Given the description of an element on the screen output the (x, y) to click on. 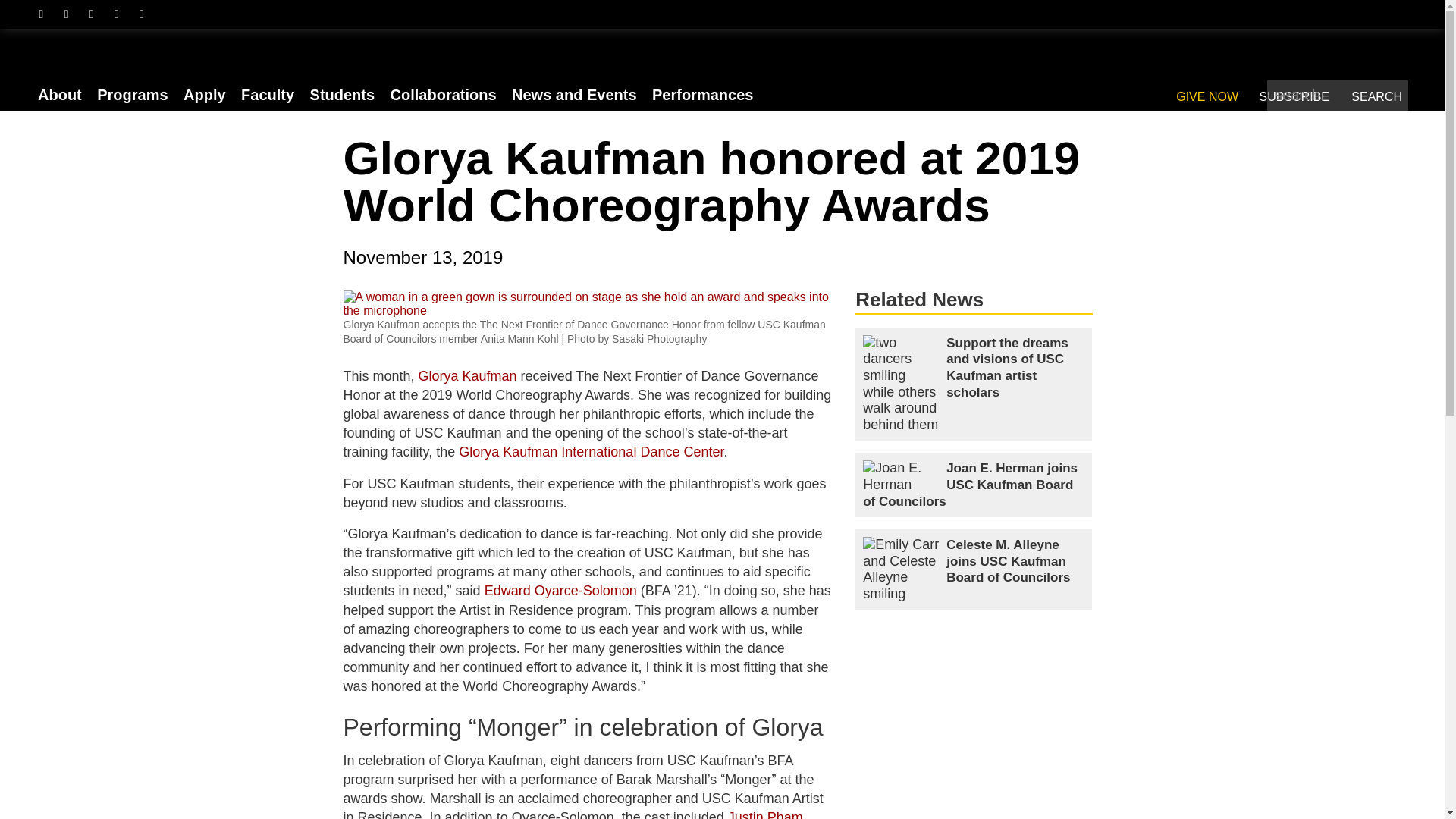
Collaborations (443, 95)
Programs (131, 95)
USC Glorya Kaufman School of Dance (305, 61)
Performances (702, 95)
search (1336, 96)
Support (61, 128)
Apply (204, 95)
University of Southern California (1342, 54)
News and Events (574, 95)
About (59, 95)
Glorya Kaufman honored at 2019 World Choreography Awards (587, 309)
News (574, 95)
Students (342, 95)
Faculty (266, 95)
